Given the description of an element on the screen output the (x, y) to click on. 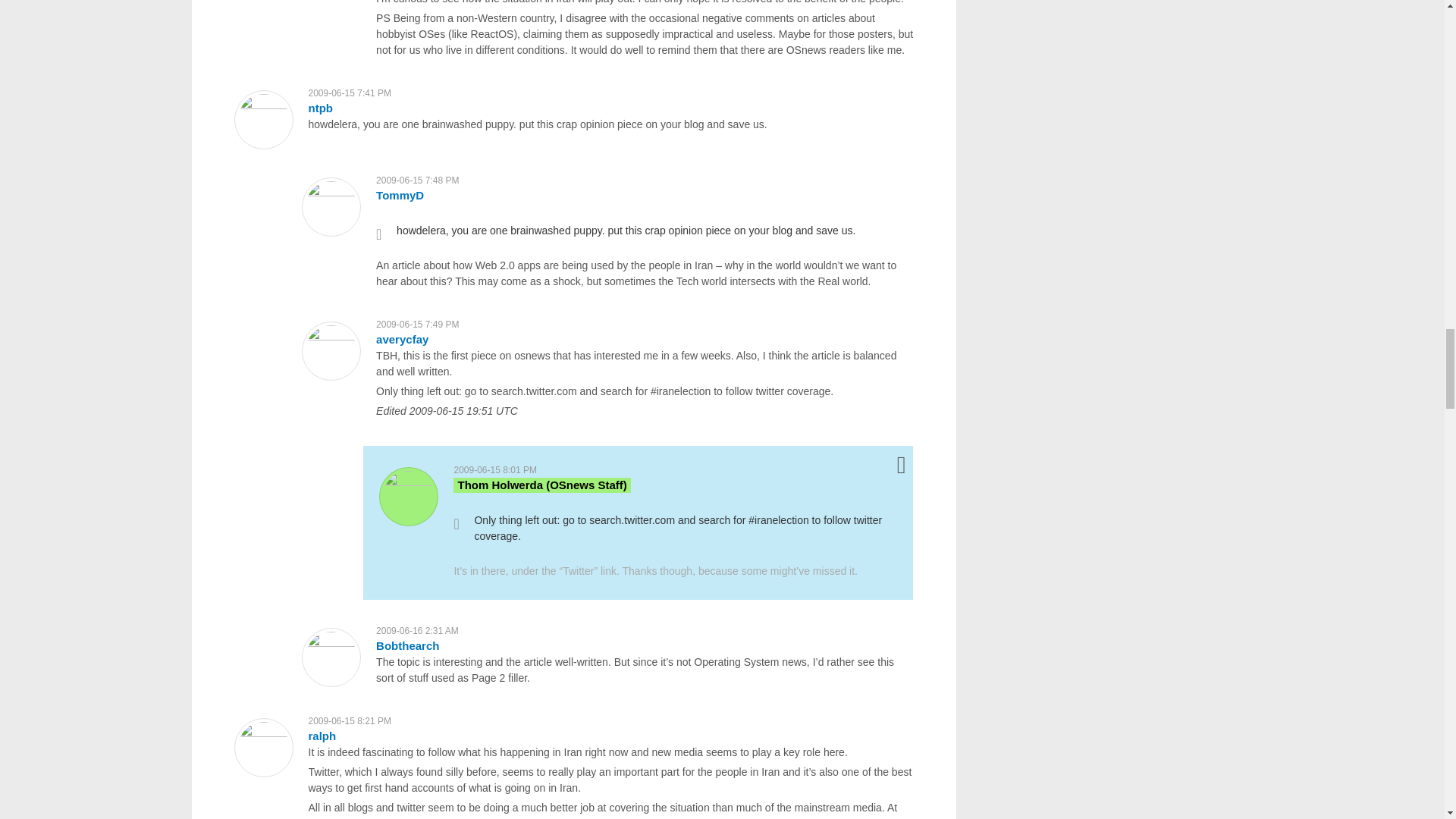
ntpb (319, 107)
TommyD (399, 195)
ralph (321, 735)
averycfay (401, 338)
Bobthearch (407, 645)
Thom Holwerda (541, 484)
